Given the description of an element on the screen output the (x, y) to click on. 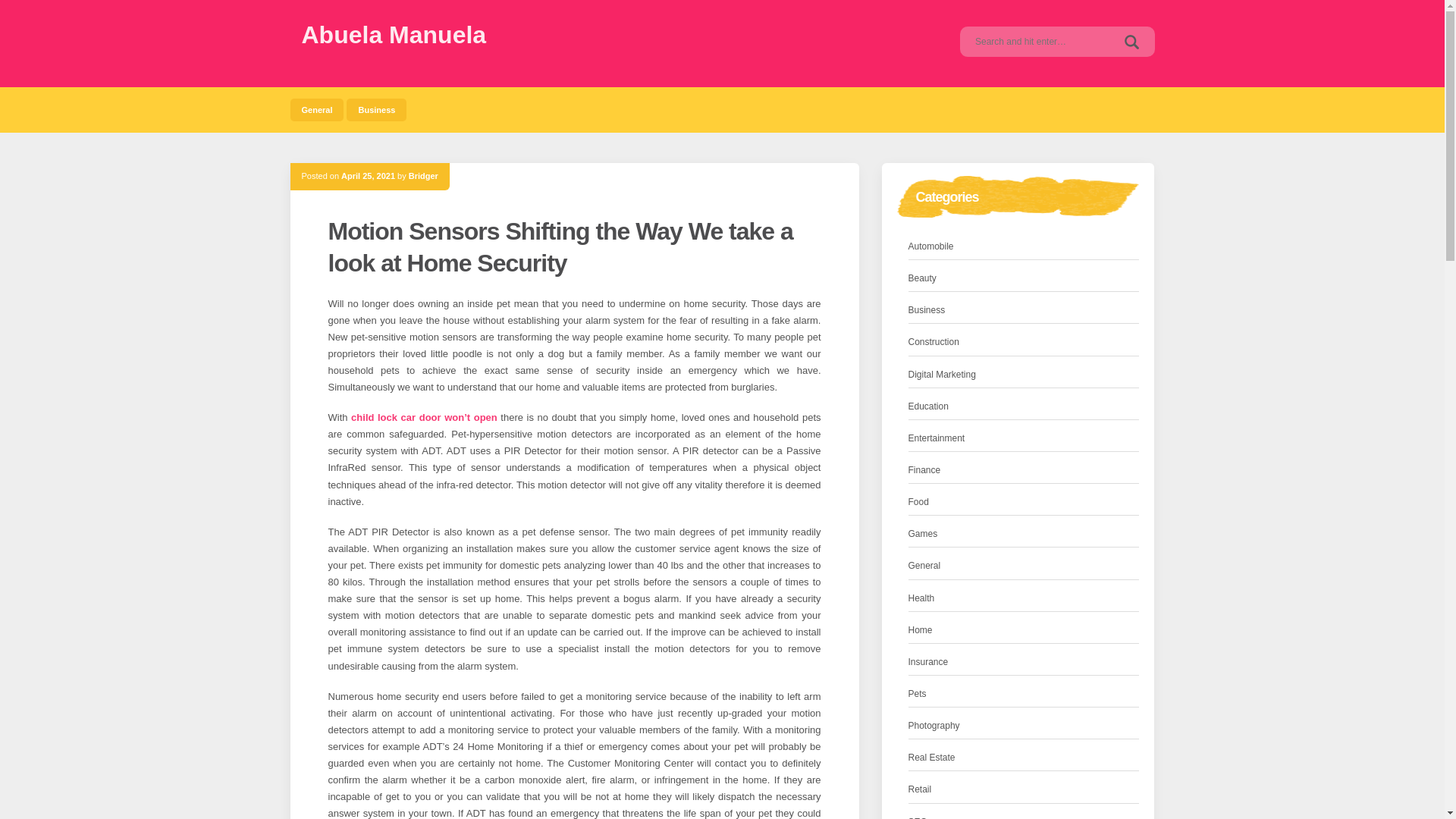
Abuela Manuela (393, 34)
Health (921, 598)
Construction (933, 342)
Photography (933, 725)
General (316, 109)
Business (376, 109)
Finance (924, 470)
Games (922, 534)
Bridger (423, 175)
Beauty (922, 278)
